Given the description of an element on the screen output the (x, y) to click on. 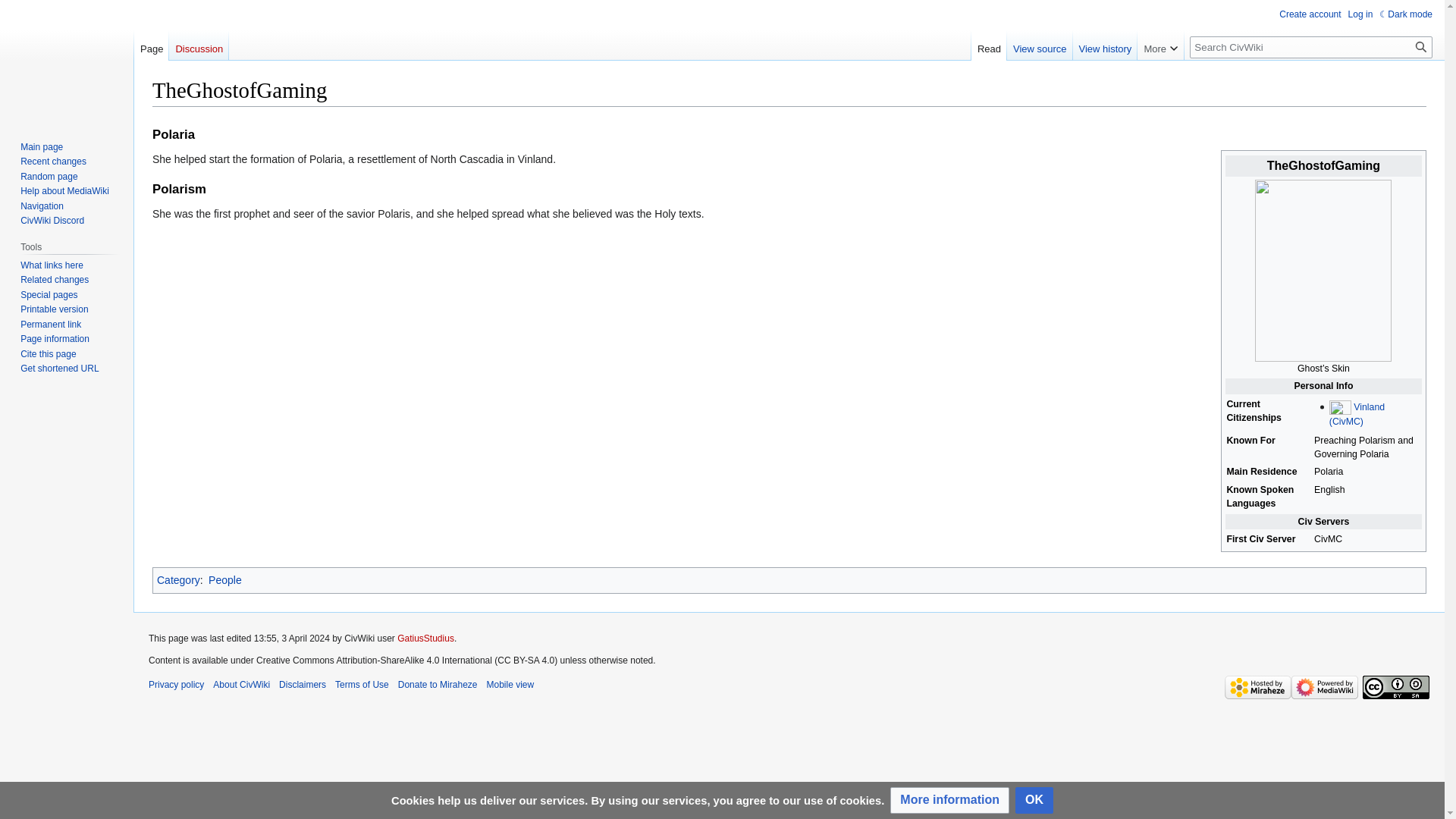
Special pages (48, 294)
View source (1040, 45)
More options (1160, 45)
Navigation (42, 205)
Printable version (53, 308)
Log in (1360, 14)
OK (1033, 800)
Recent changes (52, 161)
Search (1420, 46)
Discussion (198, 45)
